Given the description of an element on the screen output the (x, y) to click on. 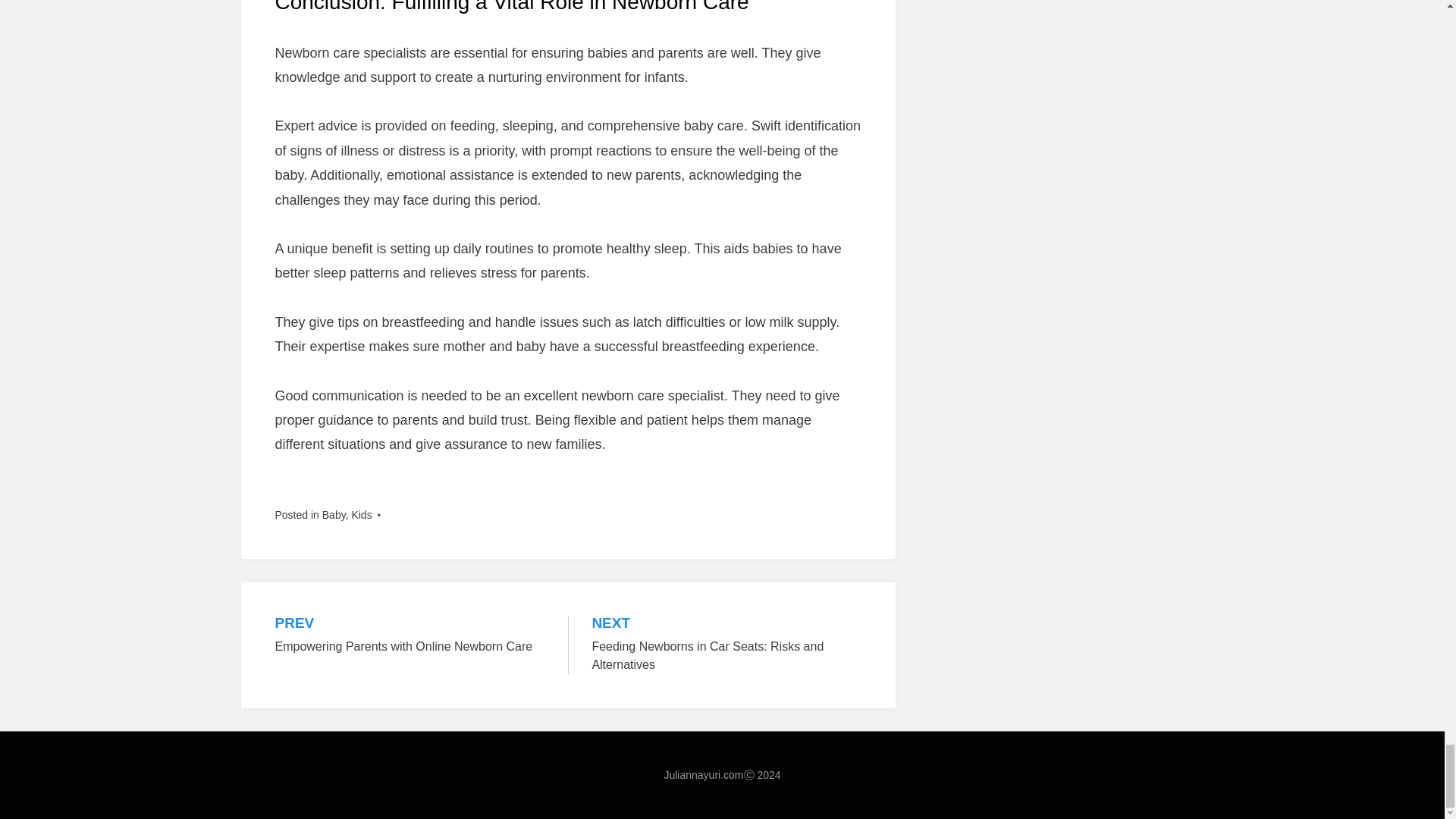
WordPress (409, 635)
Baby (481, 796)
TemplatePocket (333, 514)
TemplatePocket (365, 796)
Kids (726, 644)
WordPress (365, 796)
